Given the description of an element on the screen output the (x, y) to click on. 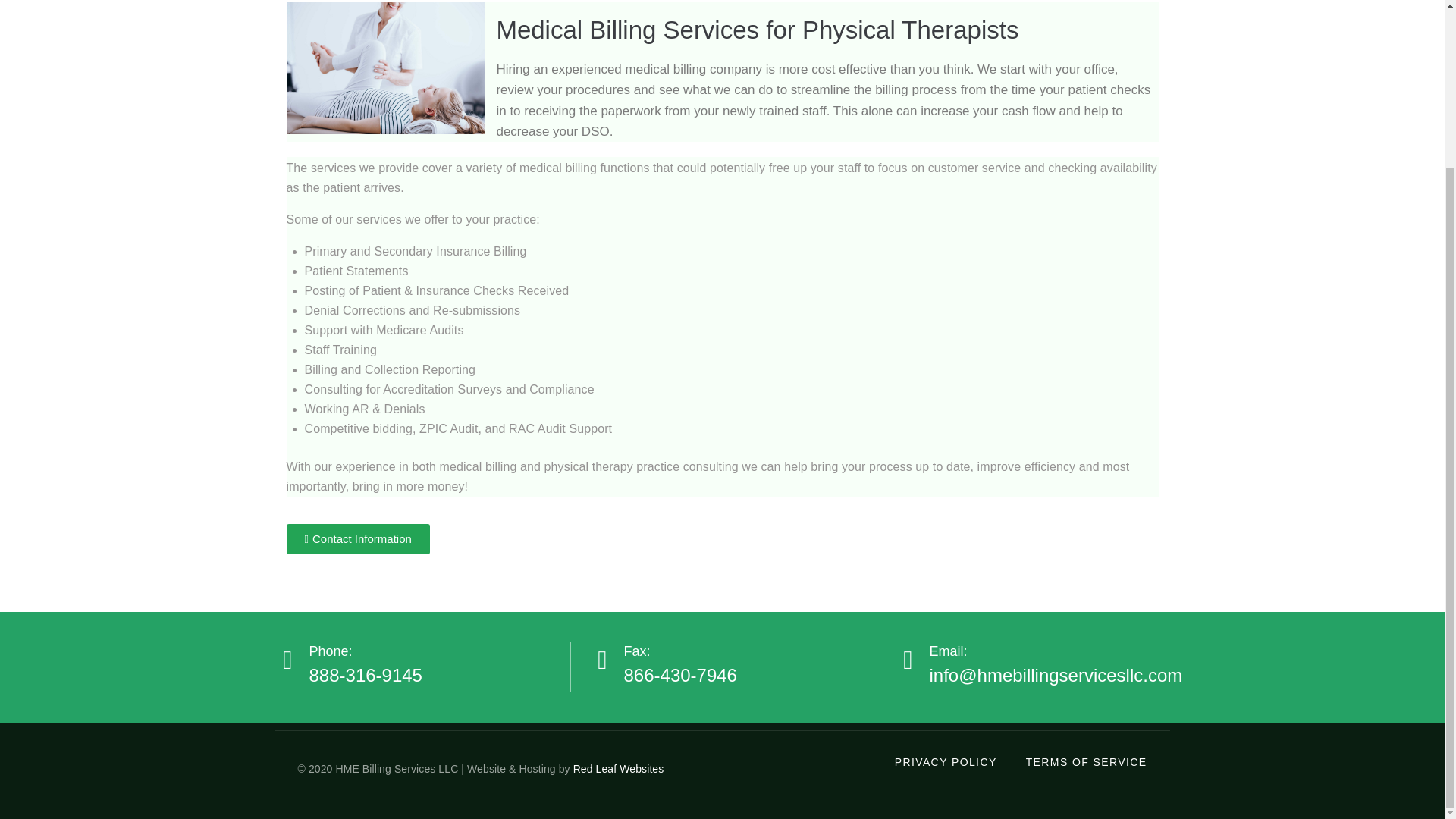
Red Leaf Websites (618, 768)
TERMS OF SERVICE (1086, 762)
Phone: (330, 651)
PRIVACY POLICY (946, 762)
Contact Information (357, 539)
